Given the description of an element on the screen output the (x, y) to click on. 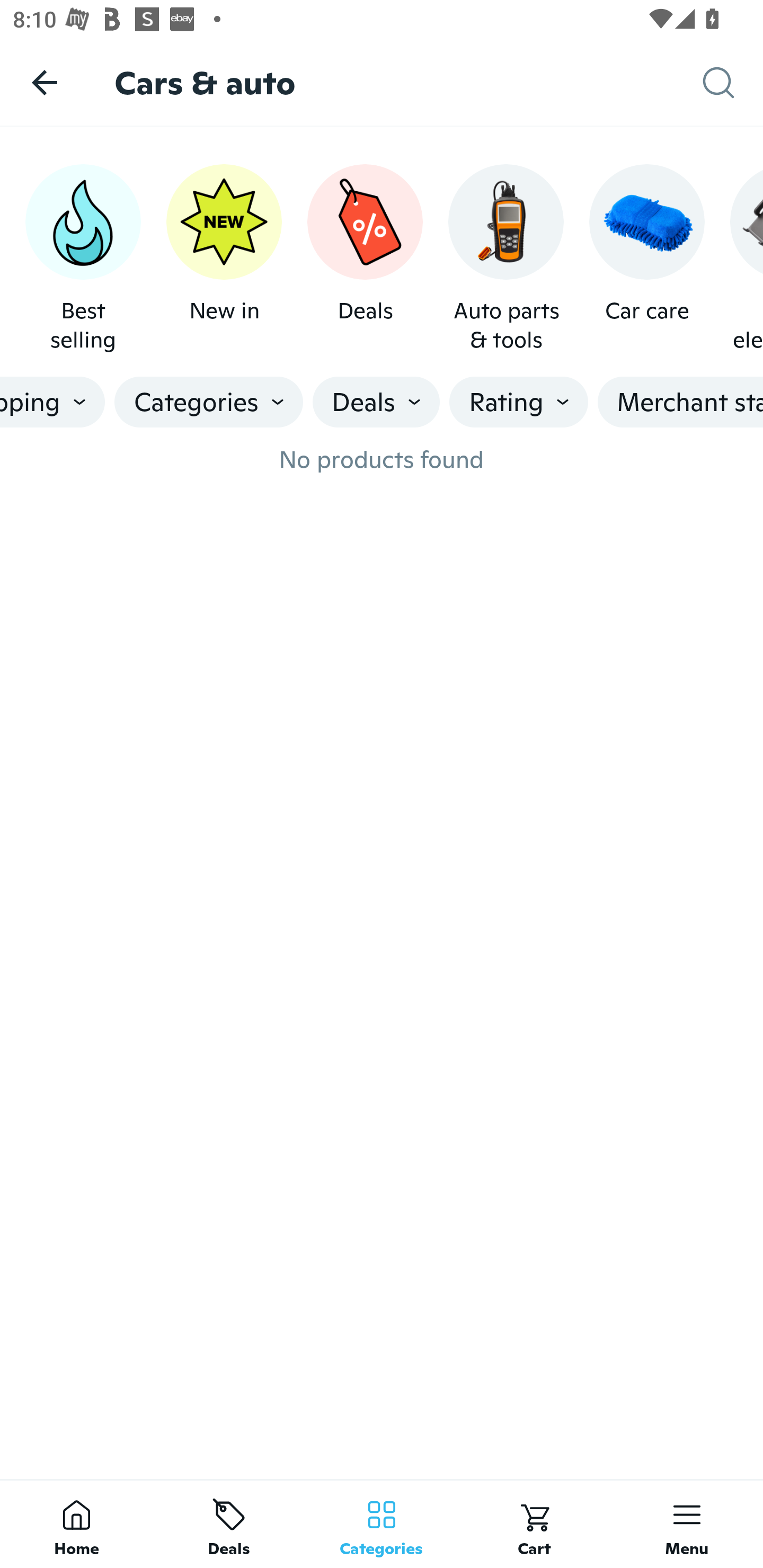
Navigate up (44, 82)
Search (732, 82)
Best selling (83, 259)
New in (223, 259)
Deals (364, 259)
Auto parts & tools (505, 259)
Car care (647, 259)
Car electronics (746, 259)
Shipping (52, 402)
Categories (208, 402)
Deals (375, 402)
Rating (518, 402)
Merchant status (680, 402)
Home (76, 1523)
Deals (228, 1523)
Categories (381, 1523)
Cart (533, 1523)
Menu (686, 1523)
